Given the description of an element on the screen output the (x, y) to click on. 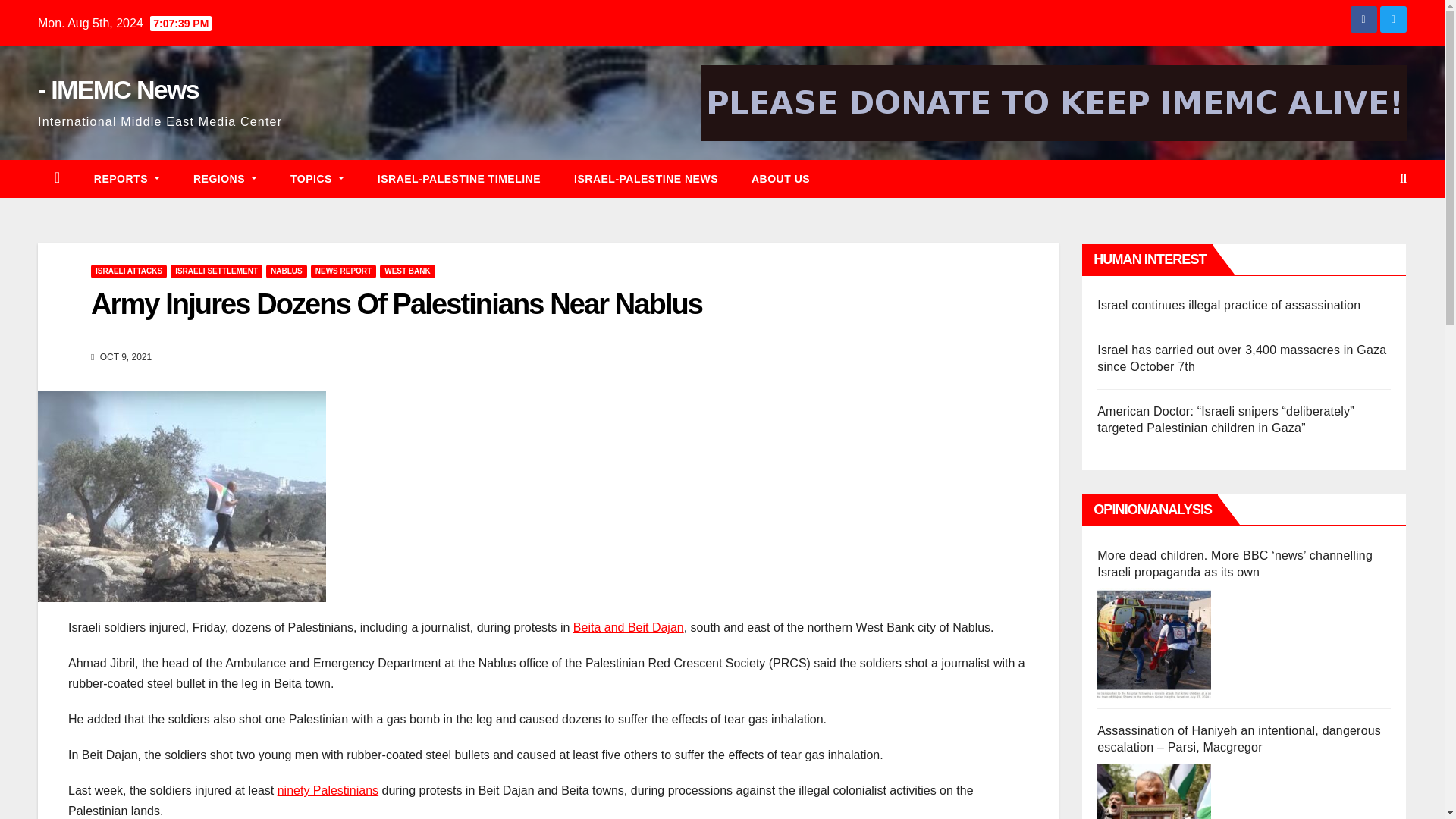
- IMEMC News (117, 89)
Regions (224, 178)
REPORTS (126, 178)
TOPICS (317, 178)
REGIONS (224, 178)
Reports (126, 178)
